Given the description of an element on the screen output the (x, y) to click on. 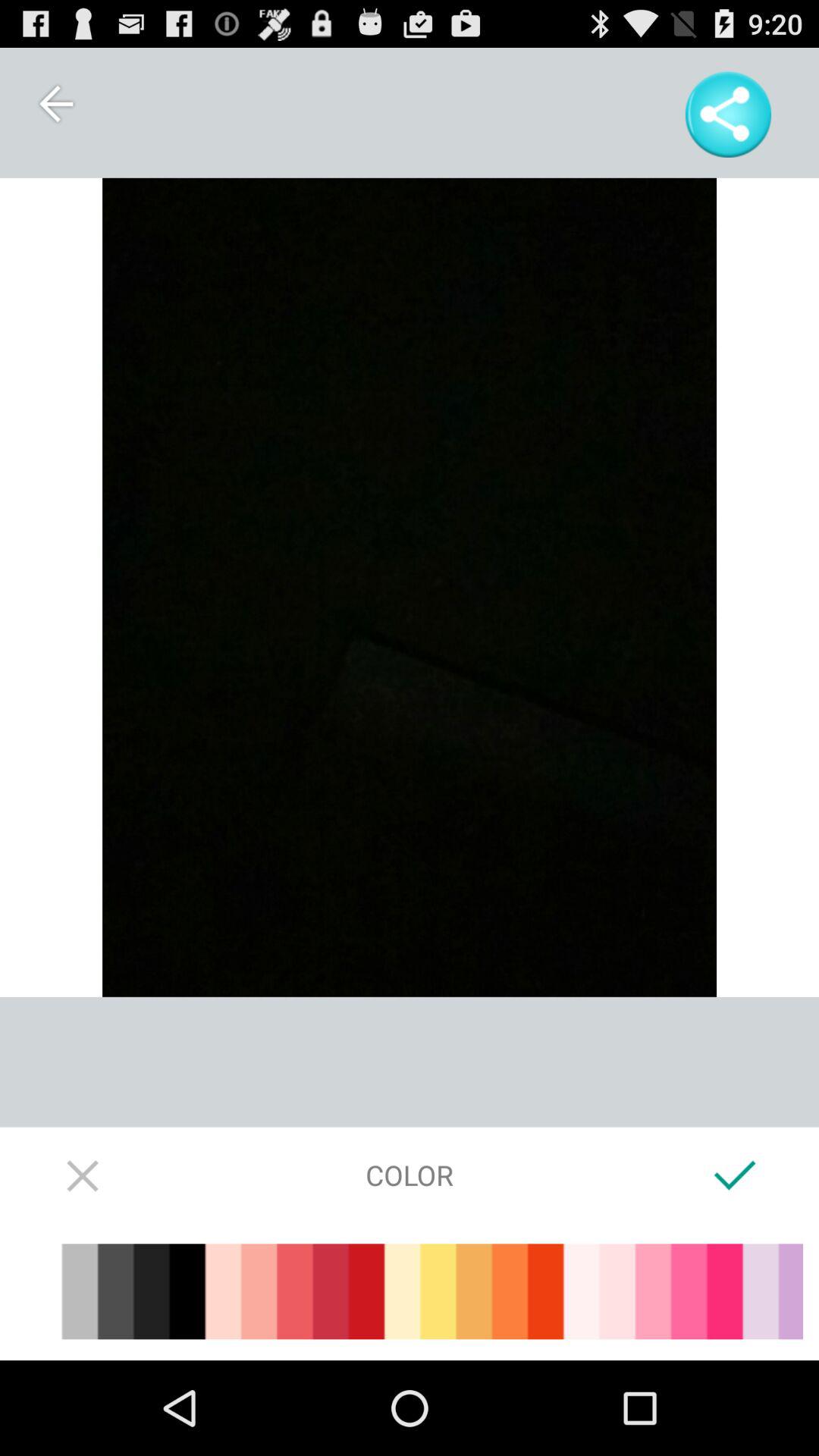
tap icon next to the color (735, 1174)
